Given the description of an element on the screen output the (x, y) to click on. 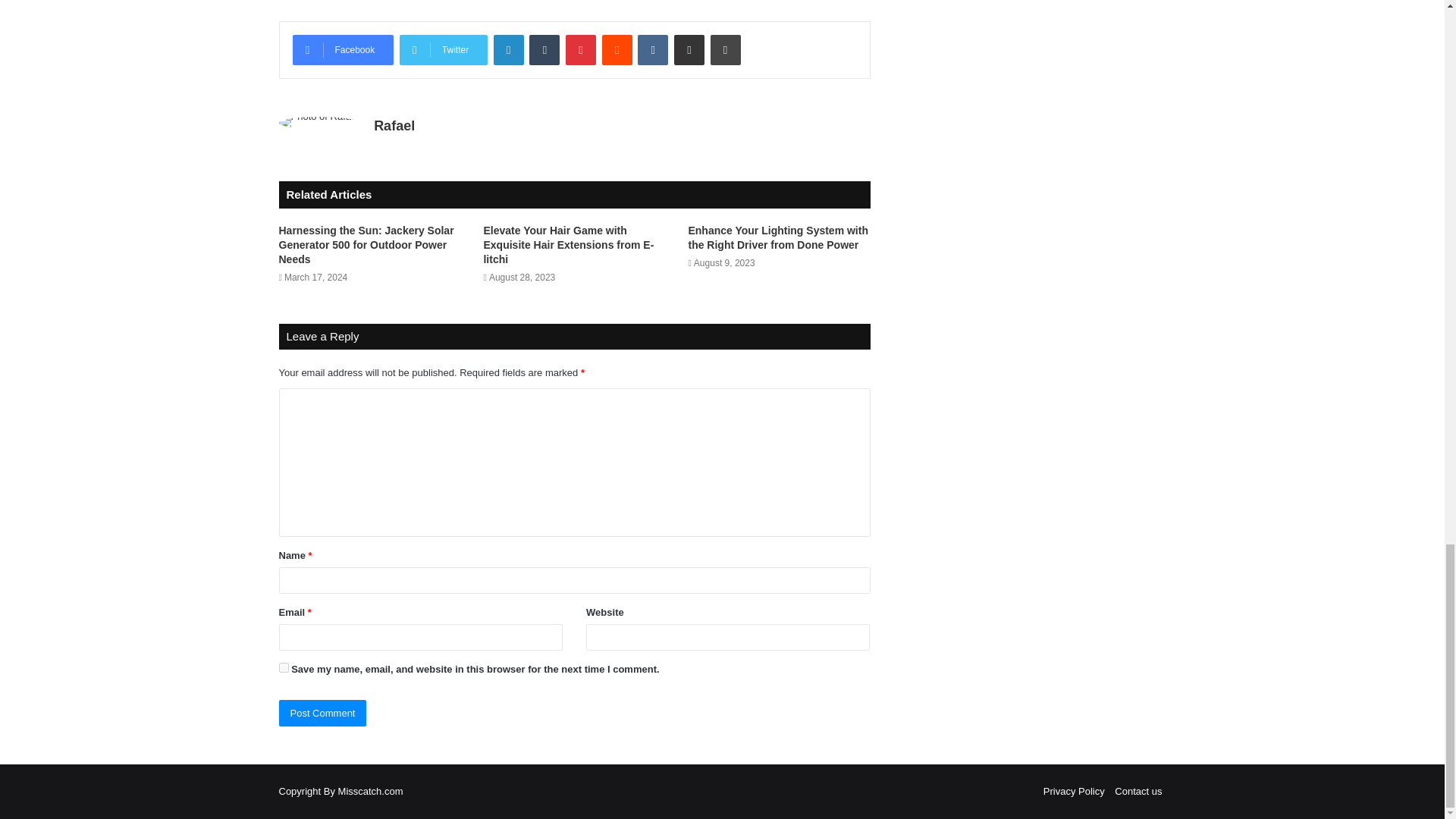
Tumblr (544, 50)
Post Comment (322, 713)
yes (283, 667)
Facebook (343, 50)
Print (725, 50)
Twitter (442, 50)
Print (725, 50)
Facebook (343, 50)
Rafael (394, 125)
Reddit (616, 50)
Reddit (616, 50)
Pinterest (580, 50)
Share via Email (689, 50)
